Given the description of an element on the screen output the (x, y) to click on. 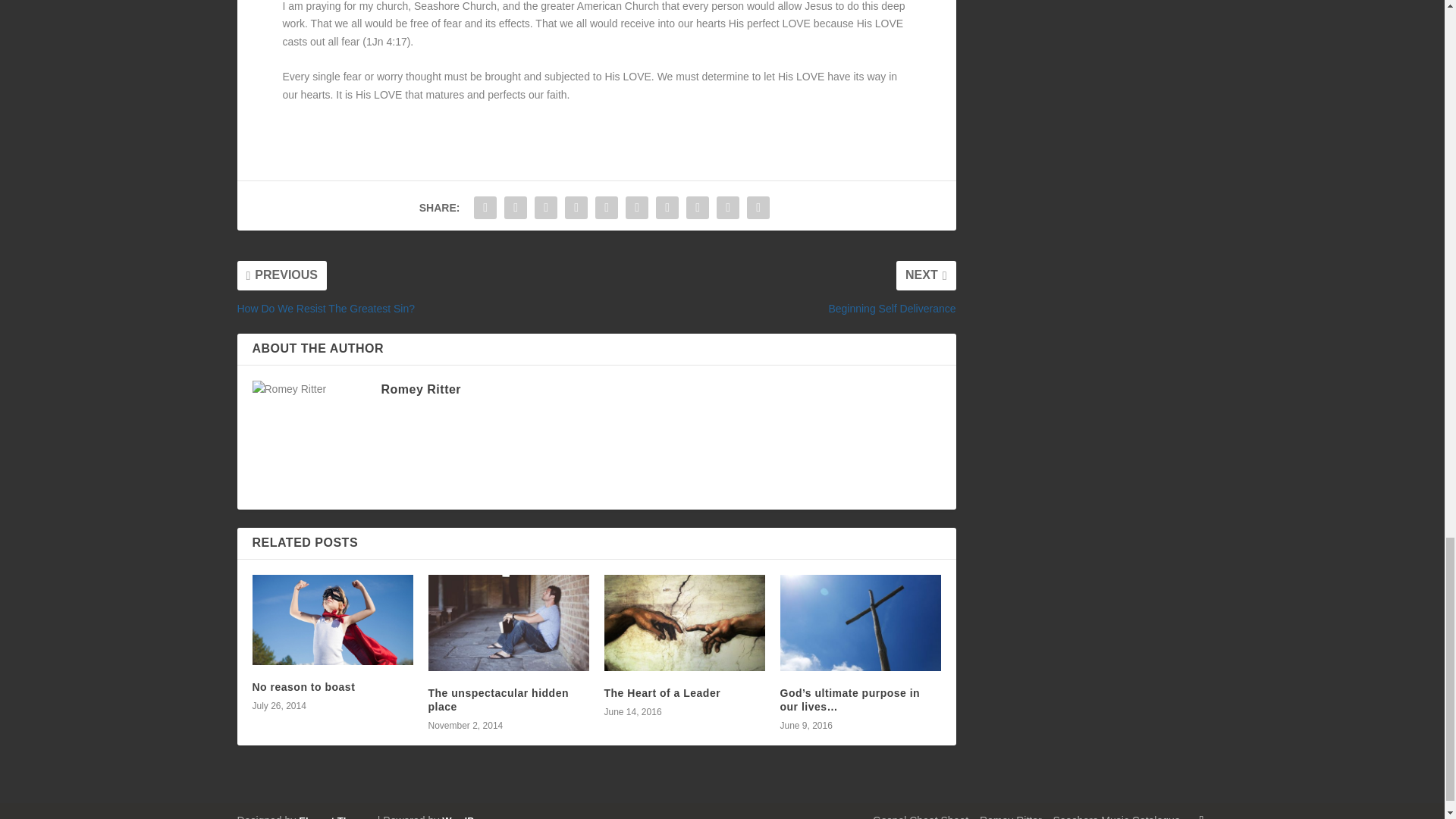
No reason to boast (331, 619)
The unspectacular hidden place (497, 699)
View all posts by Romey Ritter (420, 389)
The unspectacular hidden place (508, 622)
Romey Ritter (420, 389)
The Heart of a Leader (684, 622)
No reason to boast (303, 686)
